Given the description of an element on the screen output the (x, y) to click on. 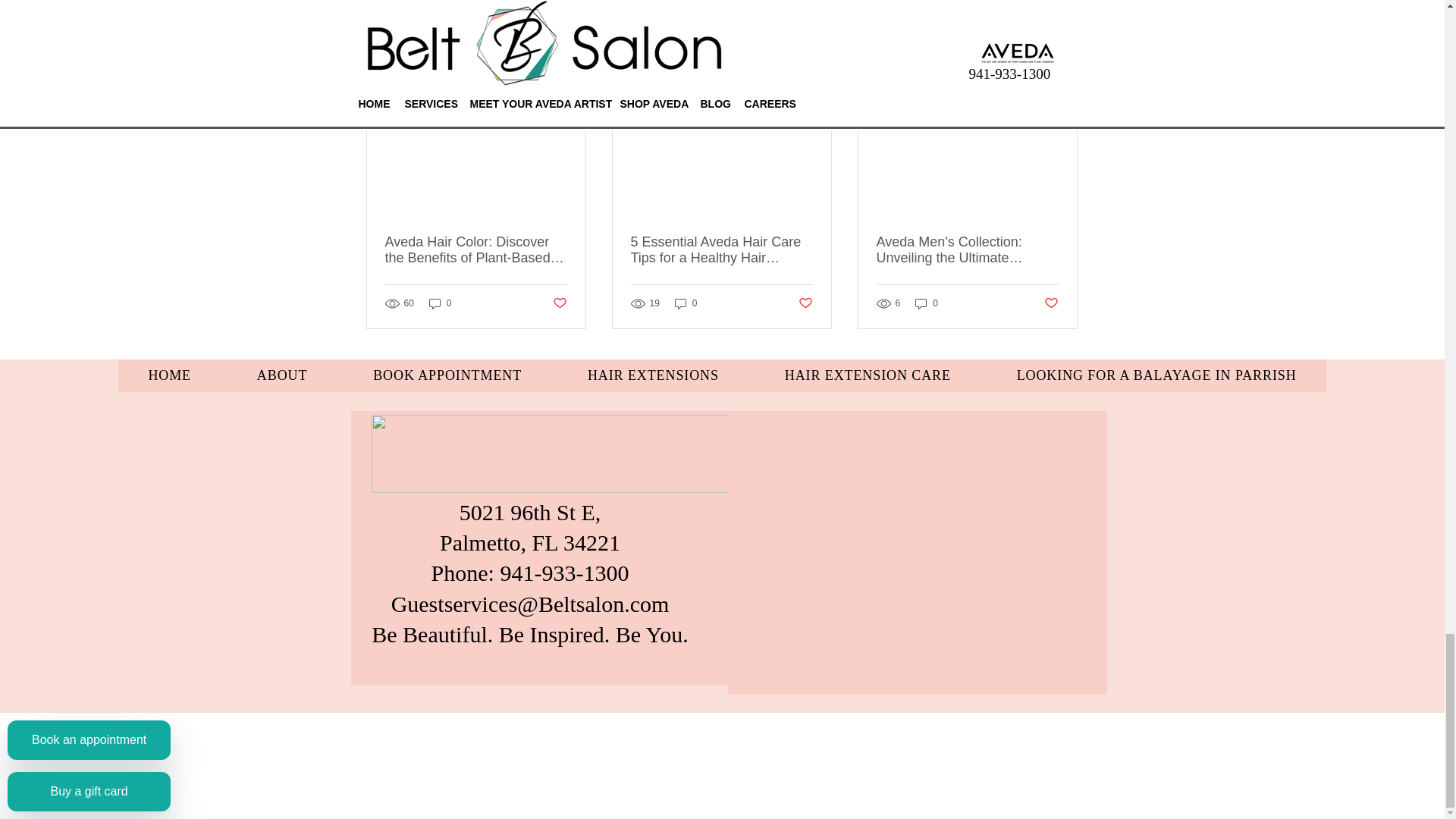
Post not marked as liked (558, 302)
0 (440, 303)
5 Essential Aveda Hair Care Tips for a Healthy Hair Journey (721, 250)
Post not marked as liked (804, 302)
See All (1061, 65)
0 (685, 303)
